Given the description of an element on the screen output the (x, y) to click on. 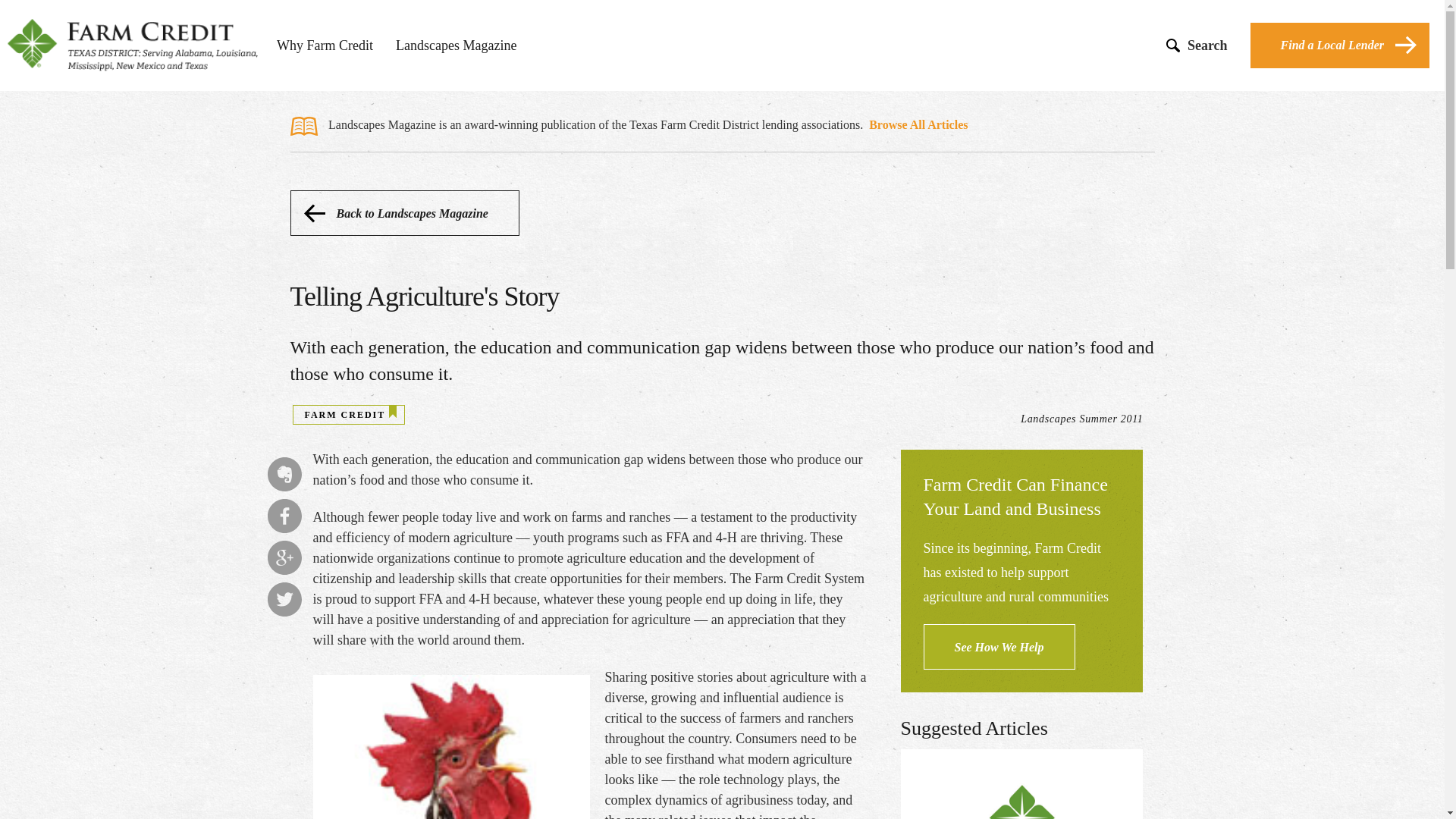
Browse All Articles (918, 124)
Landscapes Magazine (456, 47)
See How We Help (999, 646)
FARM CREDIT (344, 414)
Find a Local Lender (1339, 44)
Why Farm Credit (324, 47)
Back to Landscapes Magazine (403, 212)
